Given the description of an element on the screen output the (x, y) to click on. 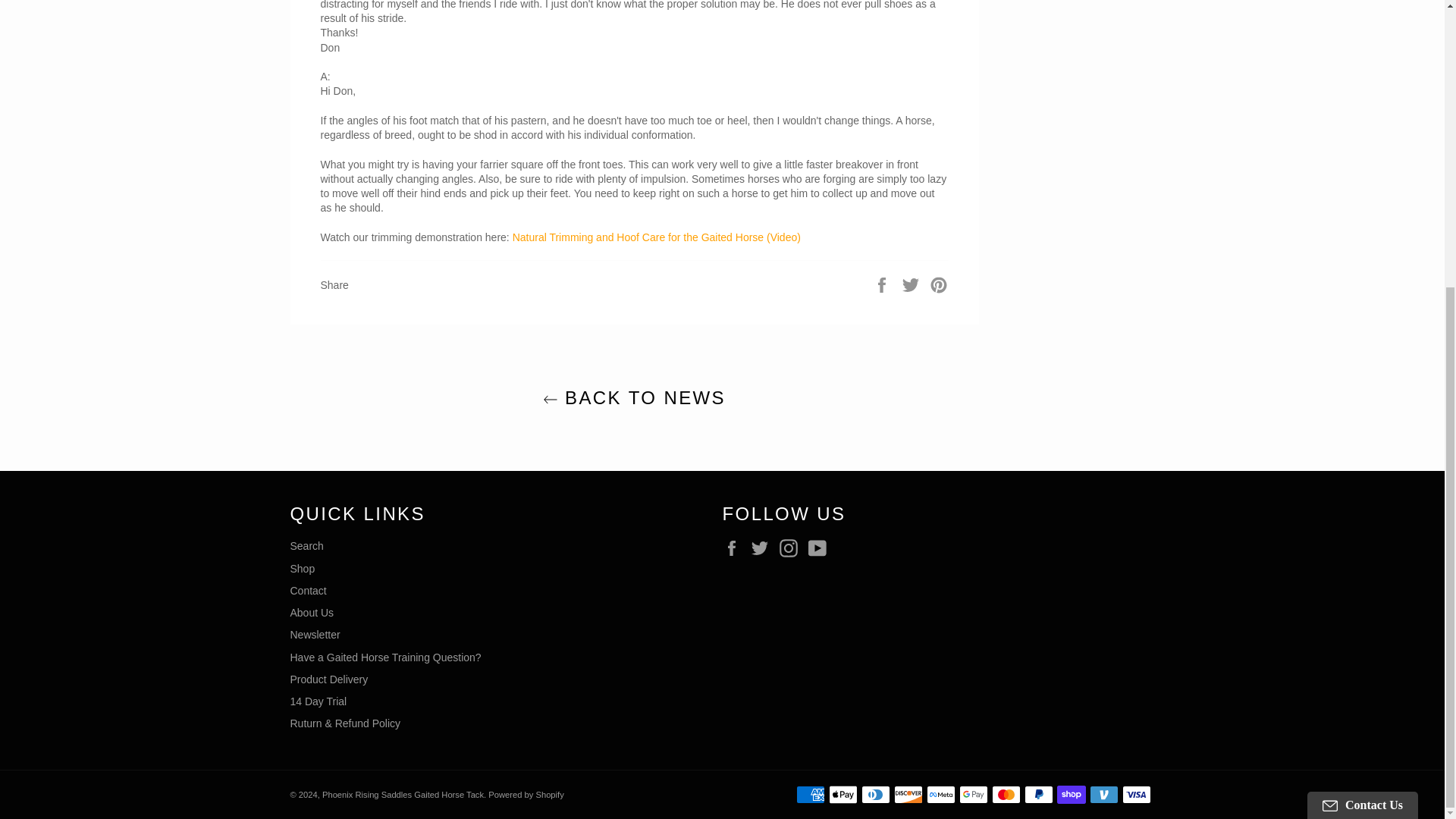
Share on Facebook (882, 284)
Phoenix Rising Saddles Gaited Horse Tack on Facebook (735, 547)
Phoenix Rising Saddles Gaited Horse Tack on Instagram (791, 547)
Phoenix Rising Saddles Gaited Horse Tack on Twitter (763, 547)
Pin on Pinterest (938, 284)
Phoenix Rising Saddles Gaited Horse Tack on YouTube (821, 547)
how to shoe and trim my gaited horse that forges (656, 236)
Tweet on Twitter (912, 284)
